Given the description of an element on the screen output the (x, y) to click on. 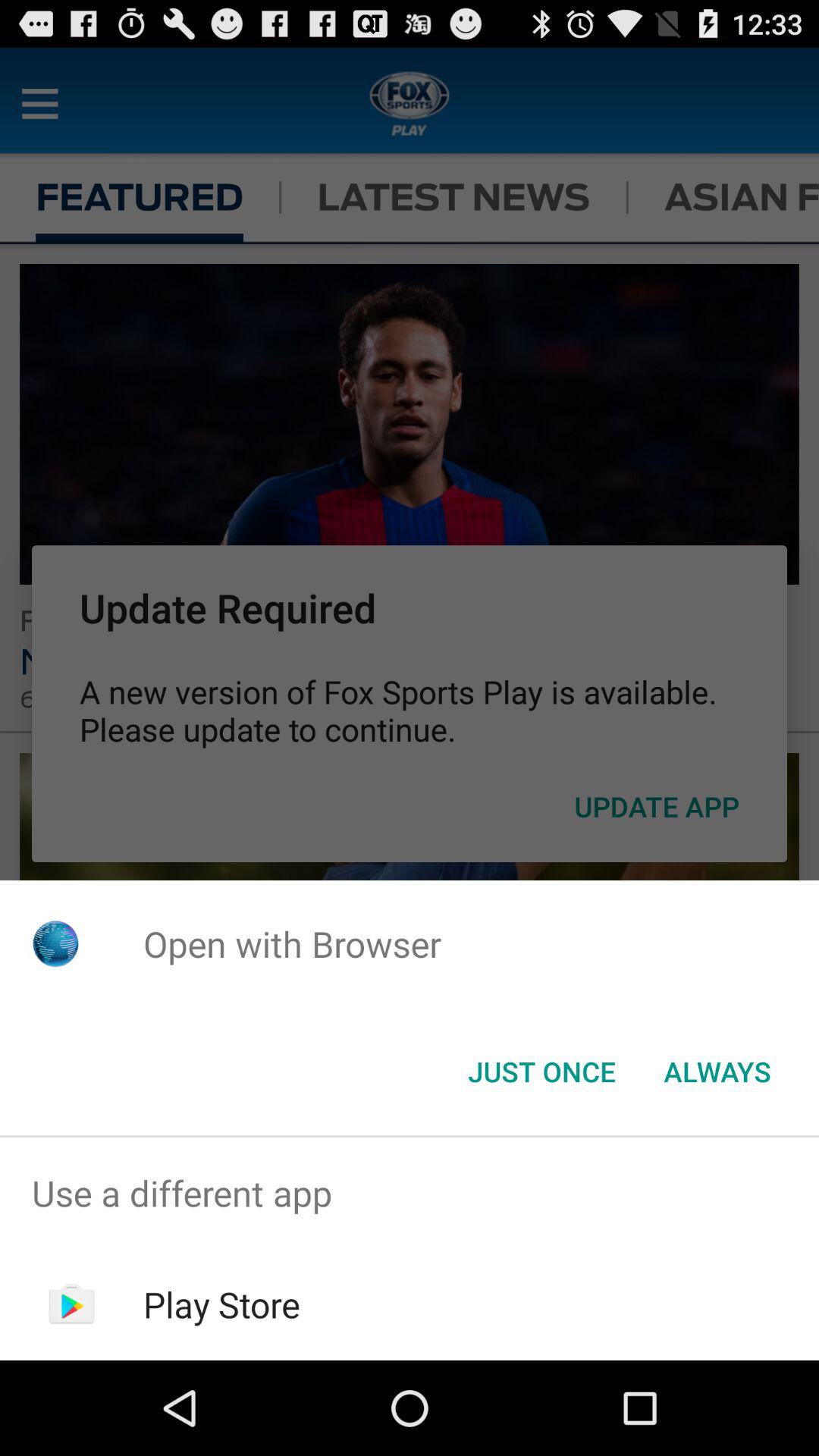
press the button next to the just once item (717, 1071)
